Given the description of an element on the screen output the (x, y) to click on. 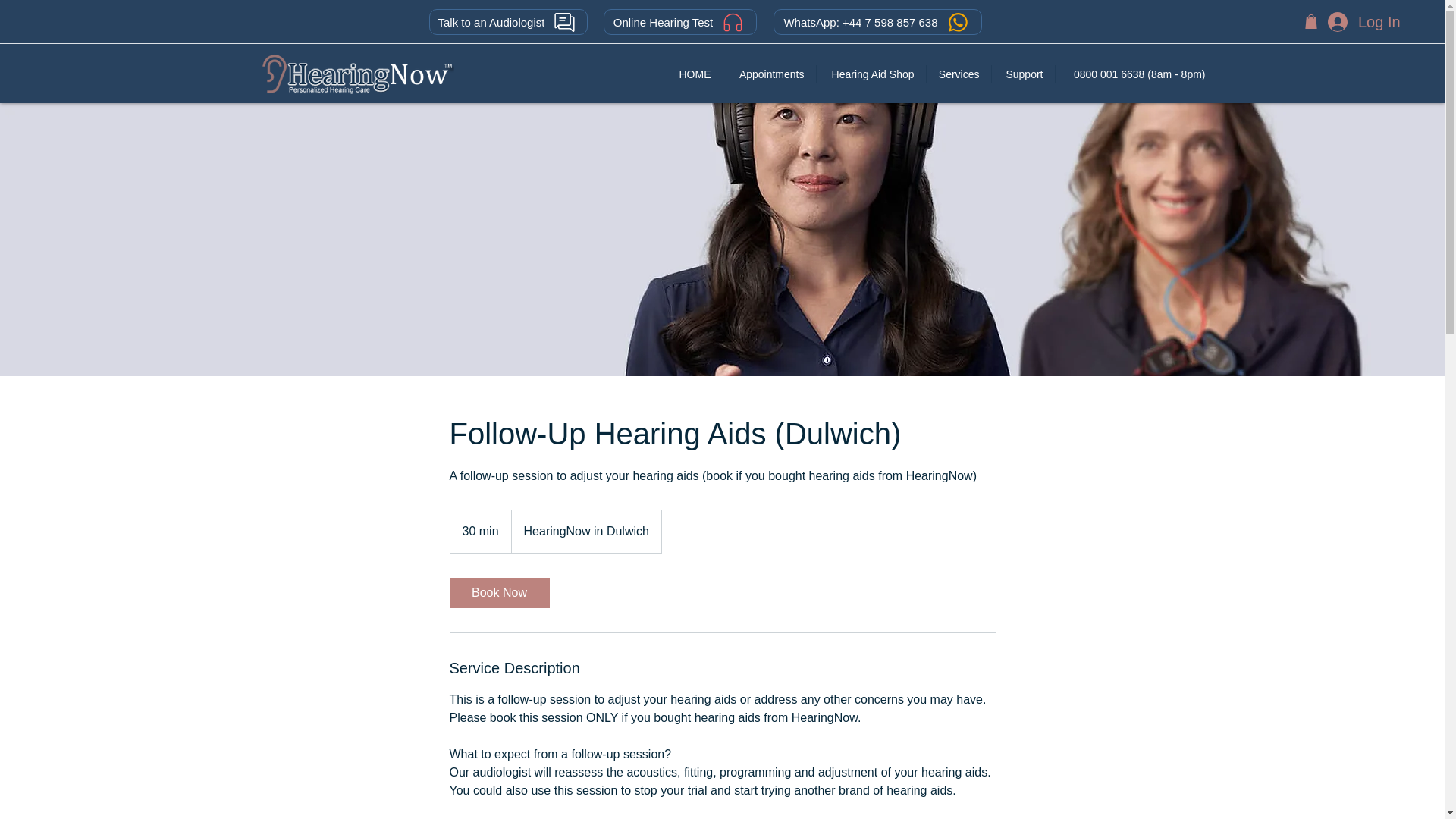
Appointments (769, 74)
Talk to an Audiologist (508, 22)
Hearing Aid Shop (869, 74)
Online Hearing Test (680, 22)
HOME (694, 74)
Services (958, 74)
Log In (1362, 21)
